Given the description of an element on the screen output the (x, y) to click on. 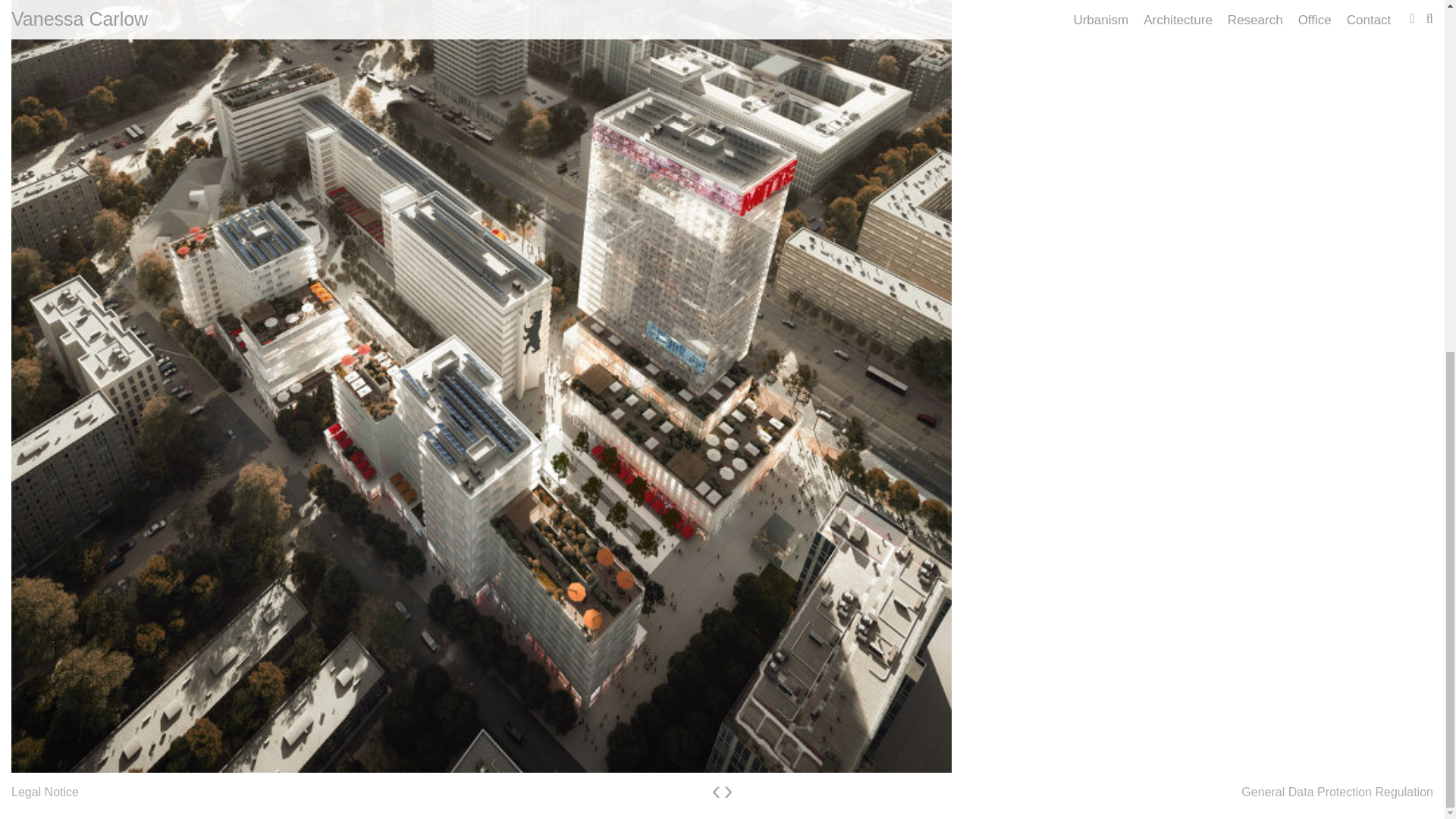
General Data Protection Regulation (1336, 792)
Legal Notice (44, 792)
